Given the description of an element on the screen output the (x, y) to click on. 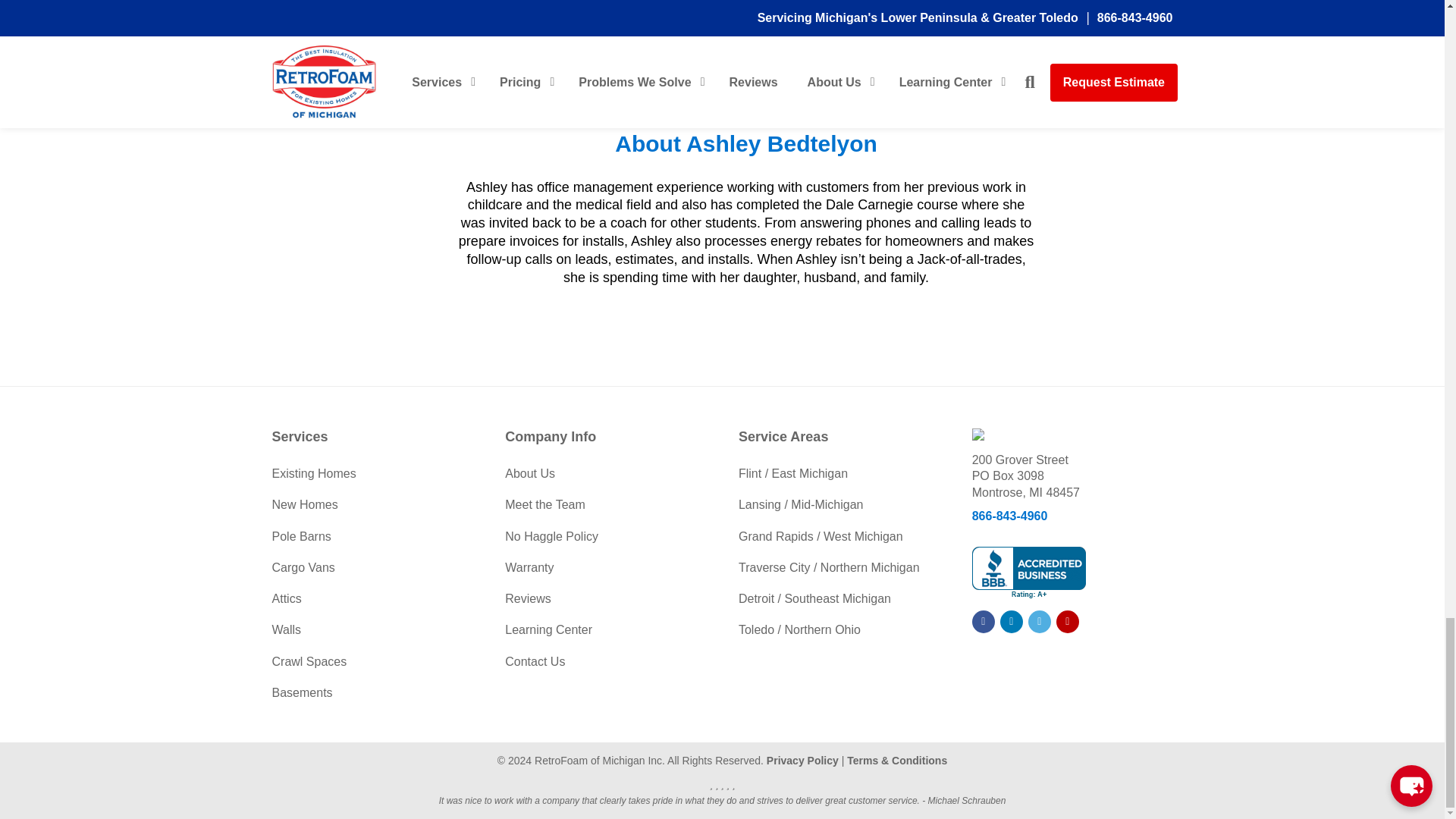
Twitter (1039, 621)
LinkedIn (1011, 621)
Ashley Bedtelyon (745, 80)
Facebook (983, 621)
